Given the description of an element on the screen output the (x, y) to click on. 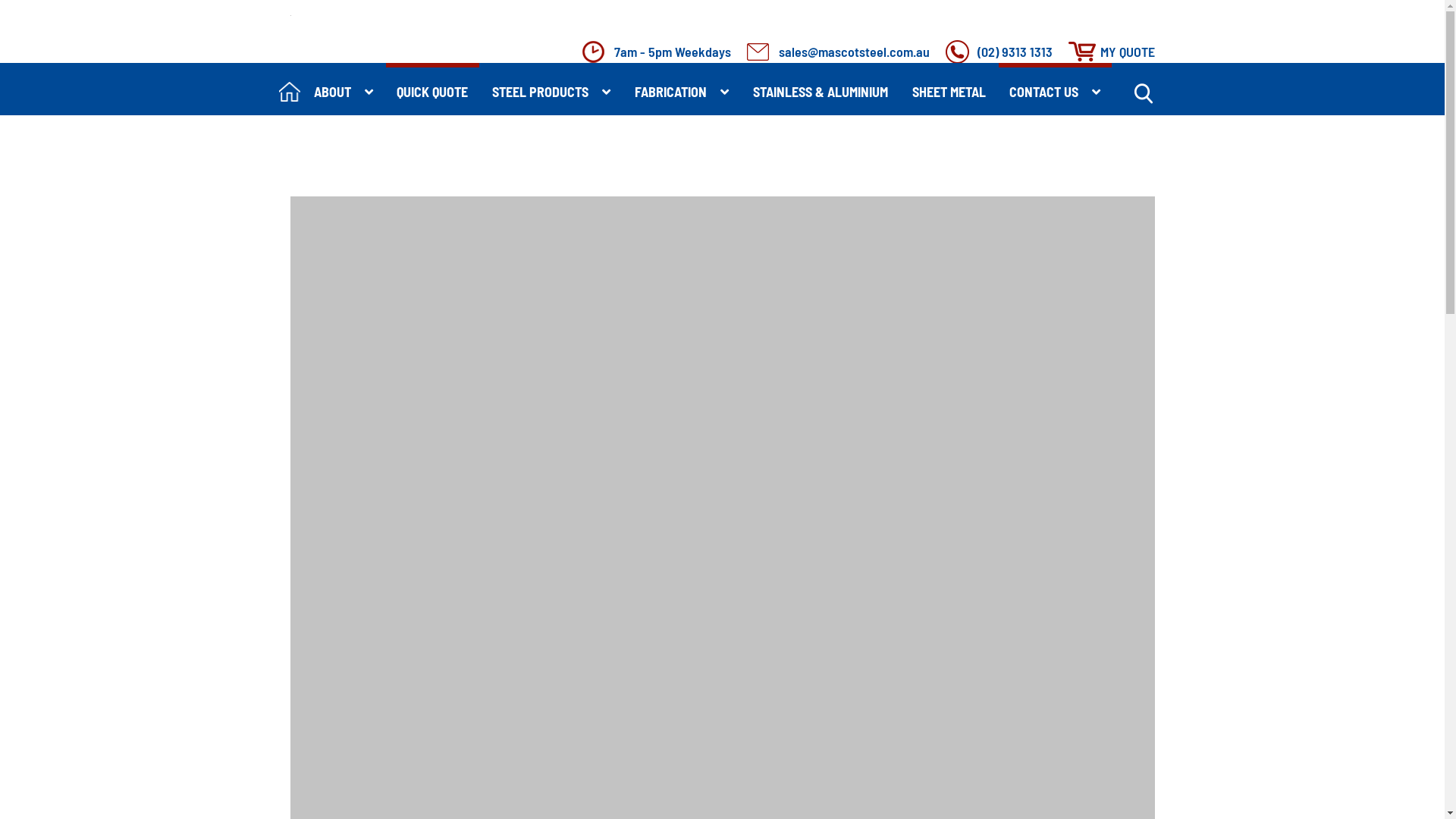
STEEL PRODUCTS Element type: text (551, 88)
MY QUOTE Element type: text (1110, 51)
CONTACT US Element type: text (1054, 88)
HOME Element type: text (290, 88)
sales@mascotsteel.com.au Element type: text (837, 51)
Skip to navigation Element type: text (289, 14)
(02) 9313 1313 Element type: text (997, 51)
ABOUT Element type: text (342, 88)
FABRICATION Element type: text (682, 88)
STAINLESS & ALUMINIUM Element type: text (819, 88)
QUICK QUOTE Element type: text (432, 88)
SHEET METAL Element type: text (948, 88)
